Given the description of an element on the screen output the (x, y) to click on. 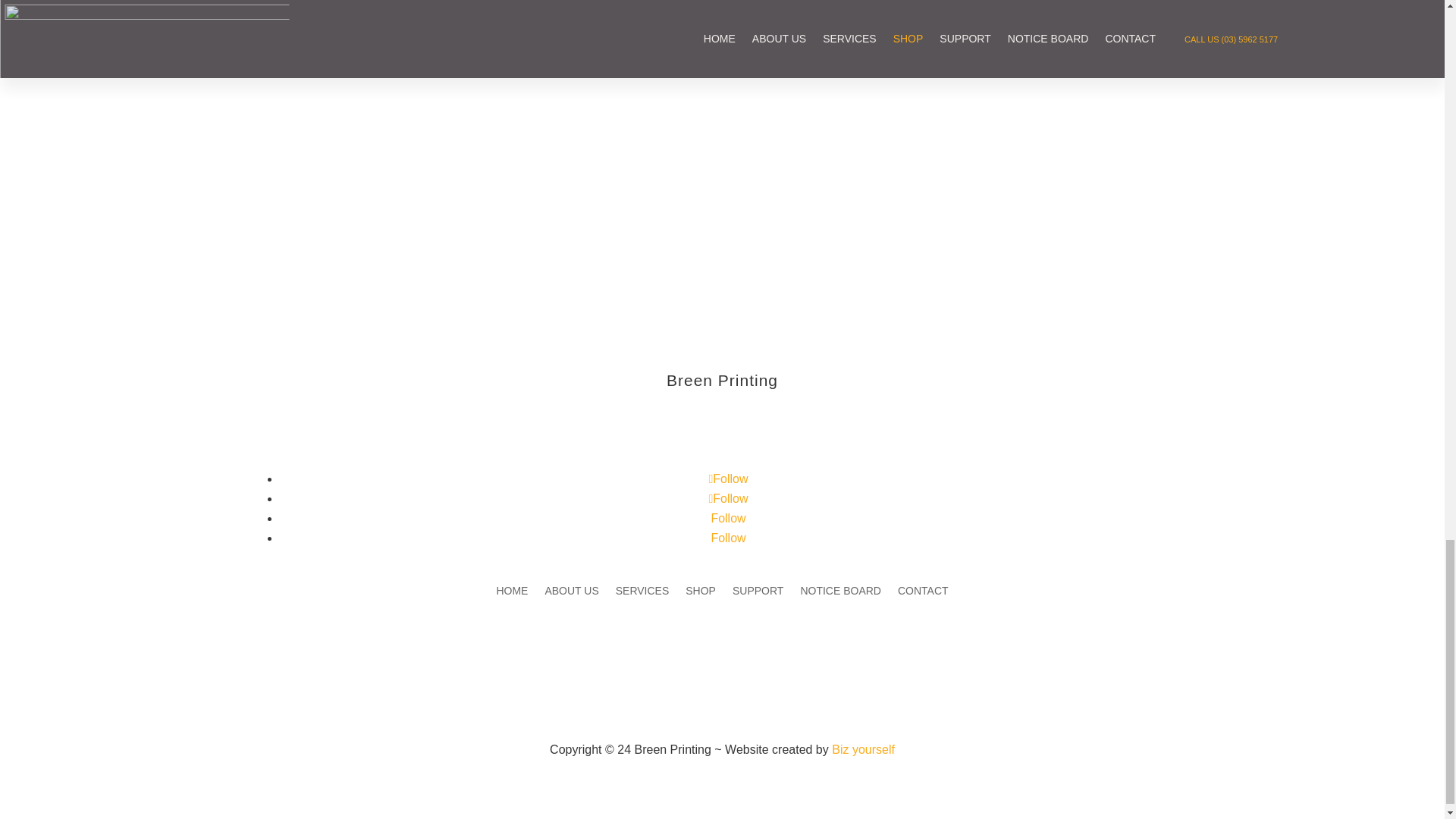
SUPPORT (757, 593)
Follow (727, 498)
HOME (511, 593)
SHOP (700, 593)
Follow on Instagram (727, 498)
Follow on Youtube (727, 537)
Follow on Facebook (727, 478)
Follow (727, 537)
Follow on LinkedIn (727, 517)
